Given the description of an element on the screen output the (x, y) to click on. 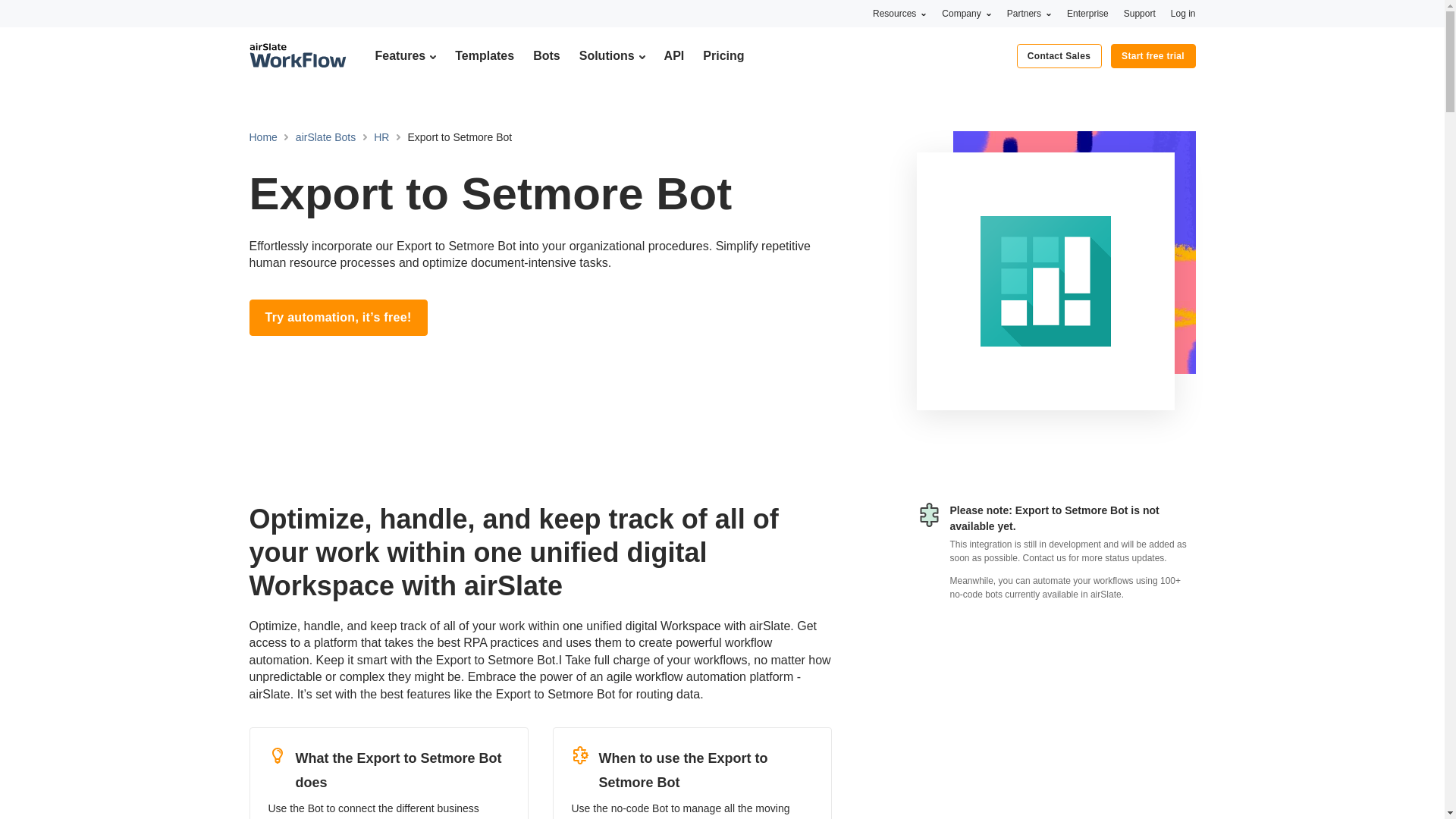
Templates (483, 55)
Company (966, 13)
Log in (1182, 13)
Support (1140, 13)
Enterprise (1087, 13)
Partners (1029, 13)
Resources (899, 13)
